Given the description of an element on the screen output the (x, y) to click on. 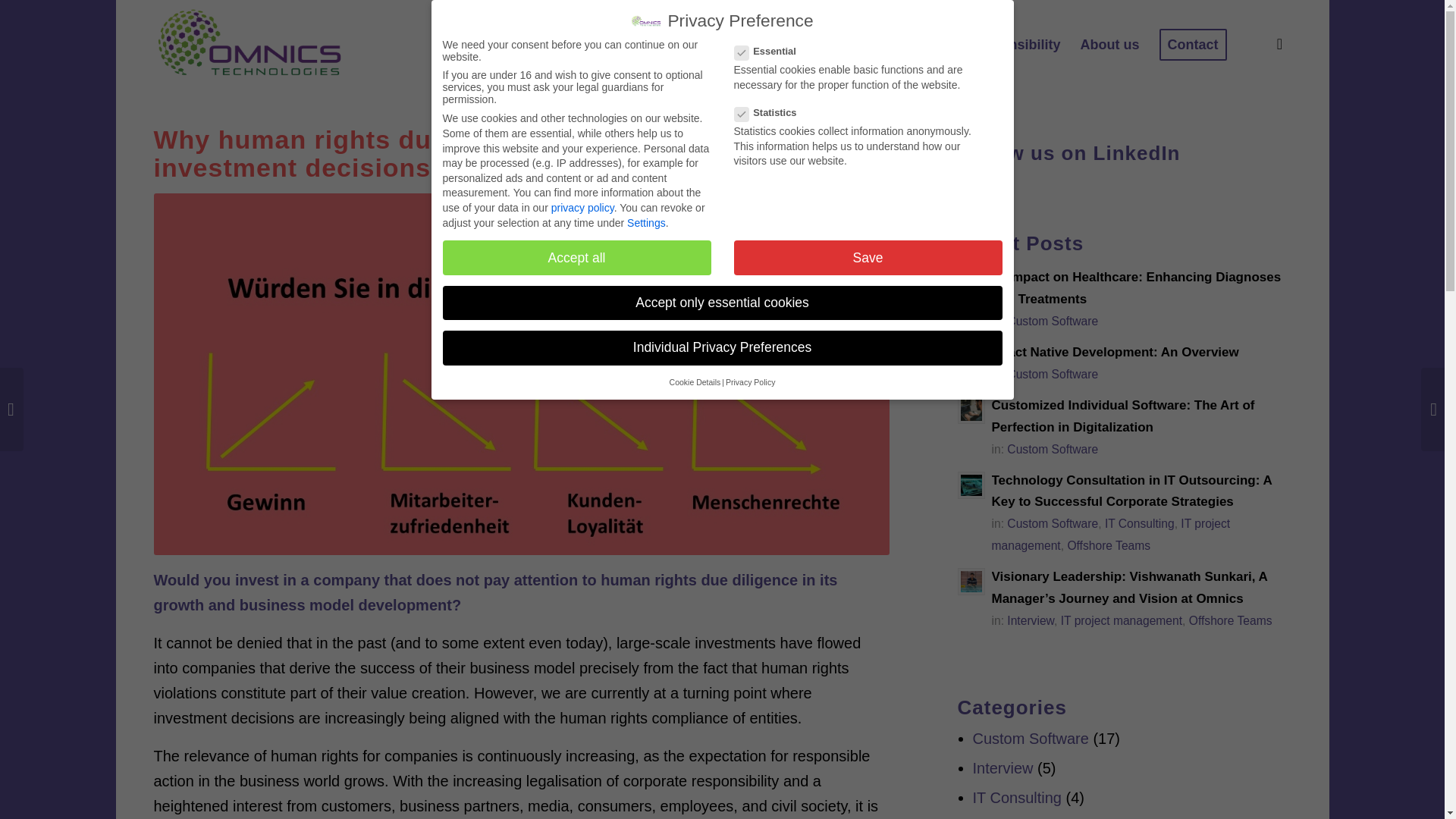
Omnics Technologies Pvt. Ltd. (248, 44)
IT Services (845, 44)
IT Consulting (1139, 522)
Interview (1030, 620)
IT project management (1121, 620)
Custom Software (1052, 522)
Offshore Teams (1108, 545)
Custom Software (1052, 373)
Responsibility (1013, 44)
